Given the description of an element on the screen output the (x, y) to click on. 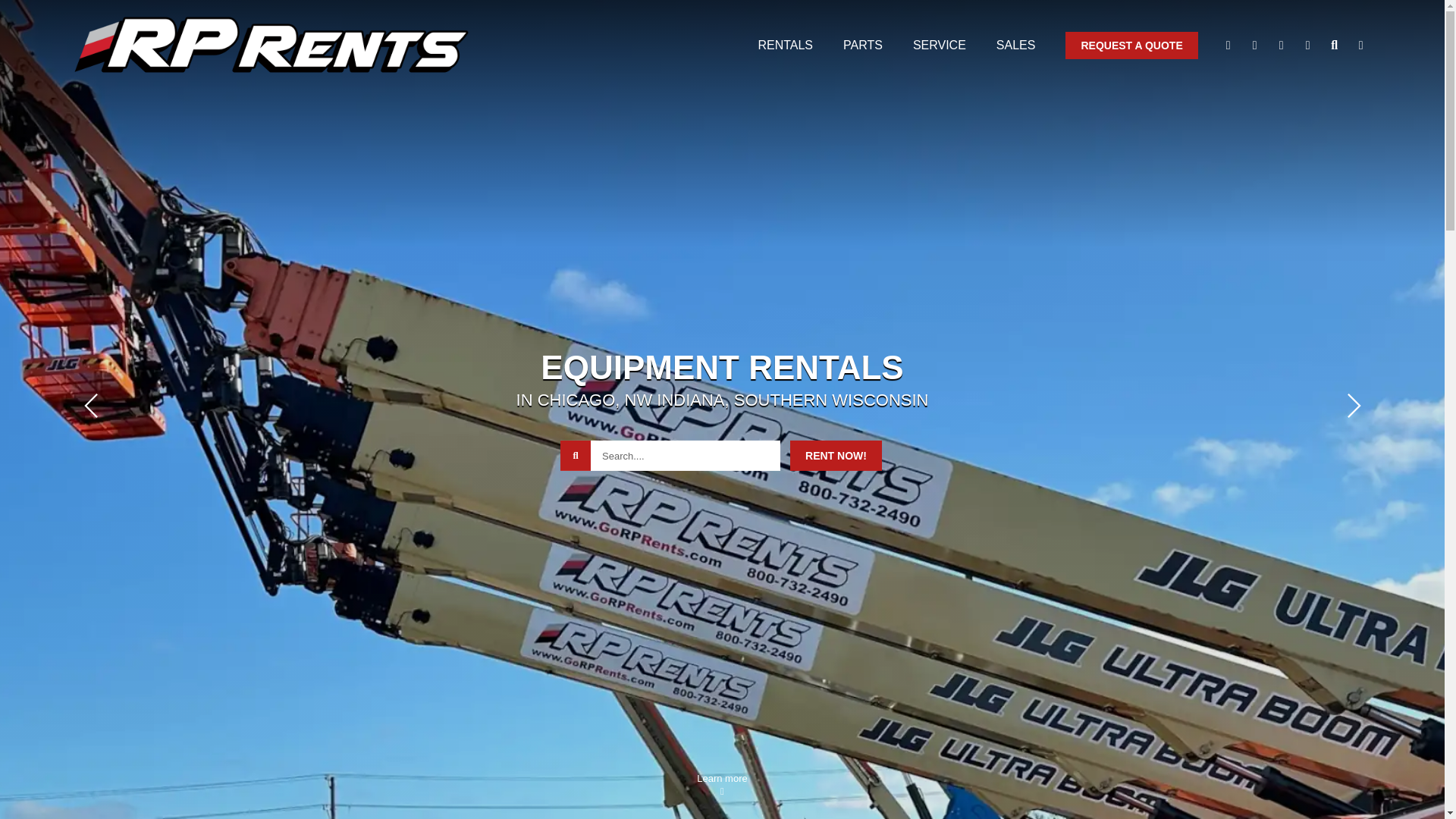
SALES (1015, 44)
SERVICE (939, 44)
Used Equipment For Sale in Chicago IL (1015, 44)
RENT NOW! (836, 455)
RENTALS (784, 44)
PARTS (862, 44)
Customer Portal (1308, 45)
Contact RP Rents in Chicago IL (1228, 45)
Equipment Rentals in Chicago IL (784, 44)
Request A Quote (1130, 44)
